Given the description of an element on the screen output the (x, y) to click on. 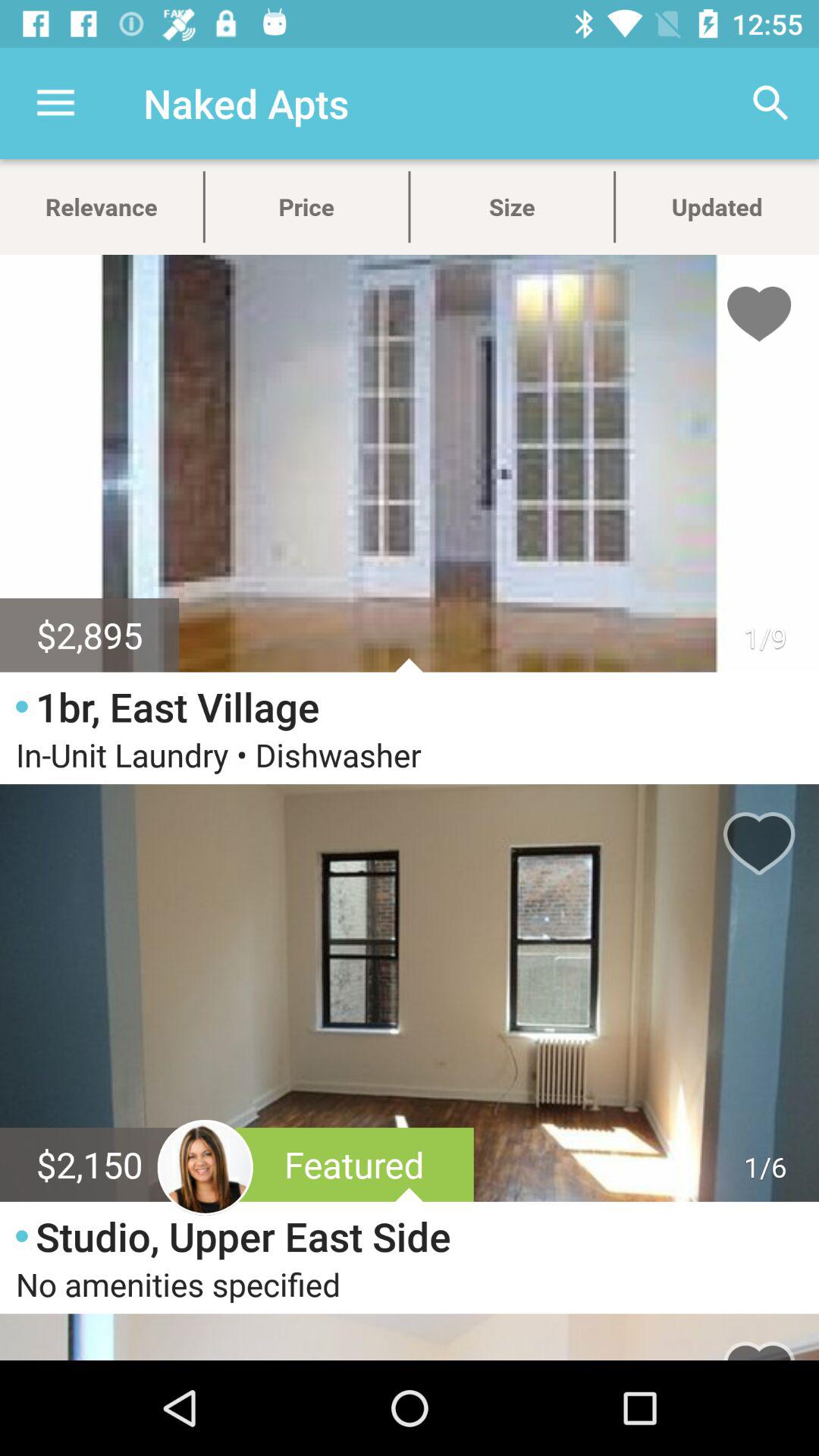
tap item below the naked apts item (306, 206)
